Given the description of an element on the screen output the (x, y) to click on. 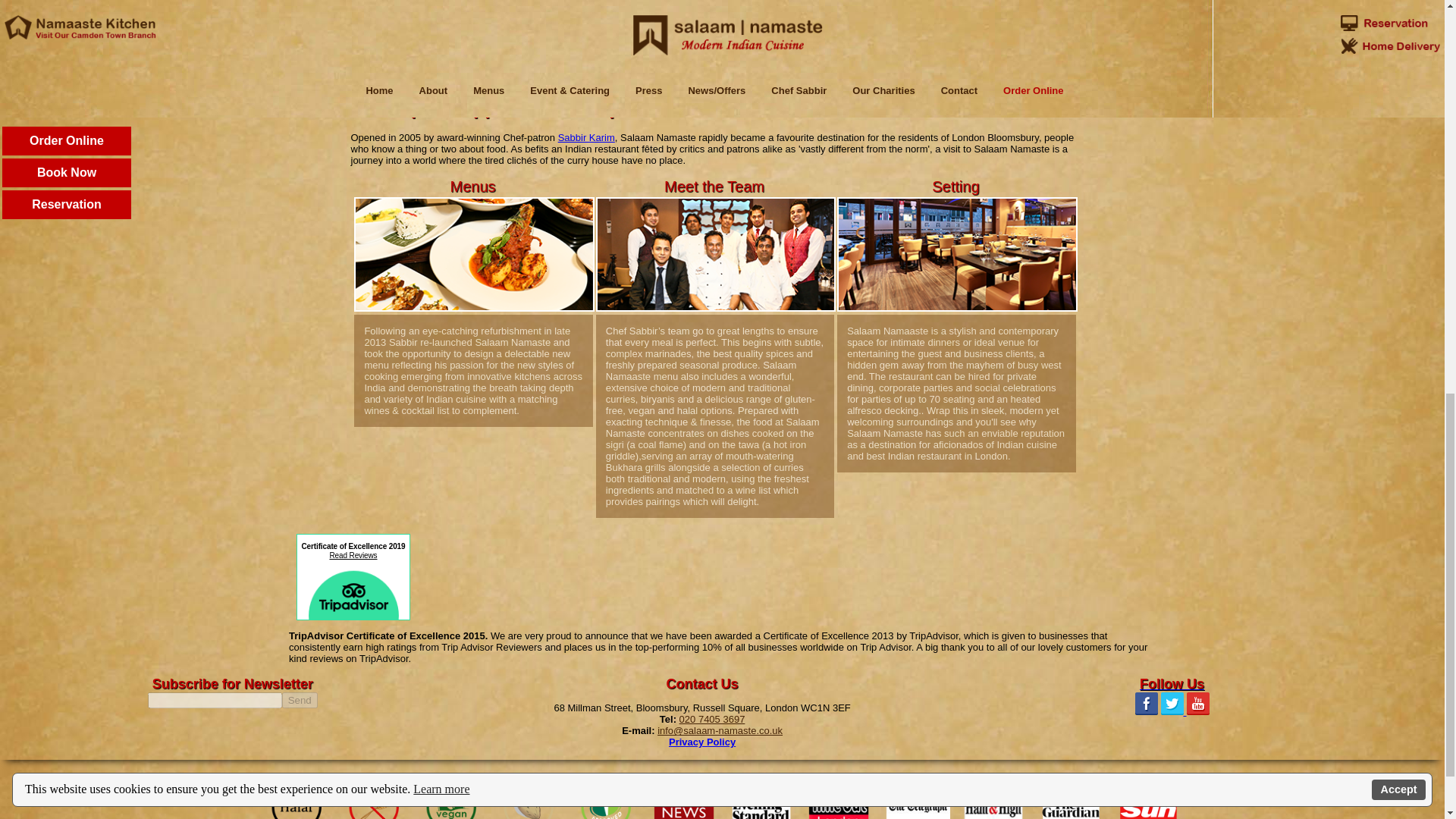
020 7405 3697 (712, 718)
Send (299, 700)
Follow Us (1172, 684)
Sabbir Karim (585, 137)
Privacy Policy (701, 741)
